Given the description of an element on the screen output the (x, y) to click on. 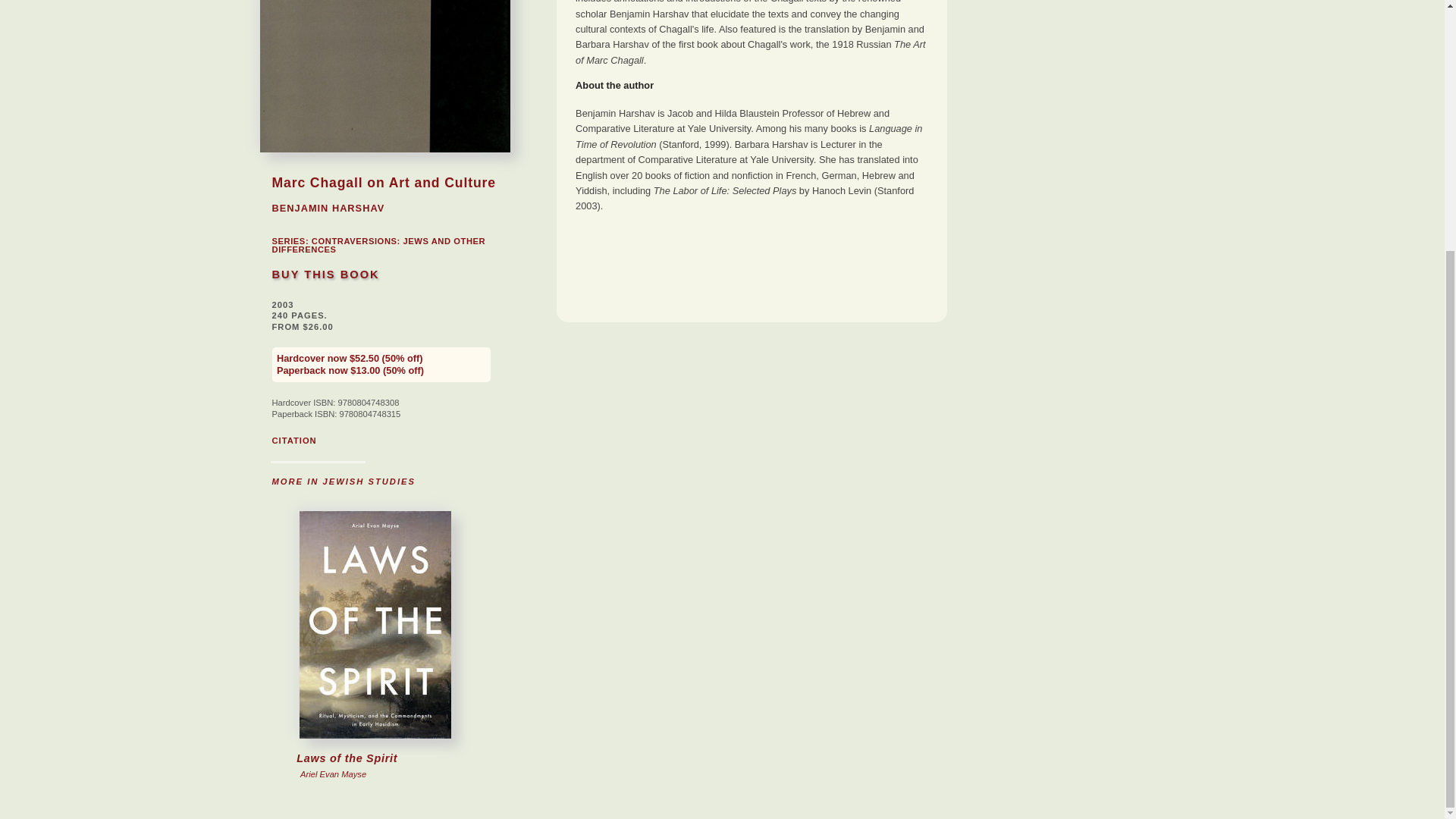
BUY THIS BOOK (324, 274)
CITATION (292, 440)
MORE IN JEWISH STUDIES (342, 481)
CONTRAVERSIONS: JEWS AND OTHER DIFFERENCES (369, 698)
